Given the description of an element on the screen output the (x, y) to click on. 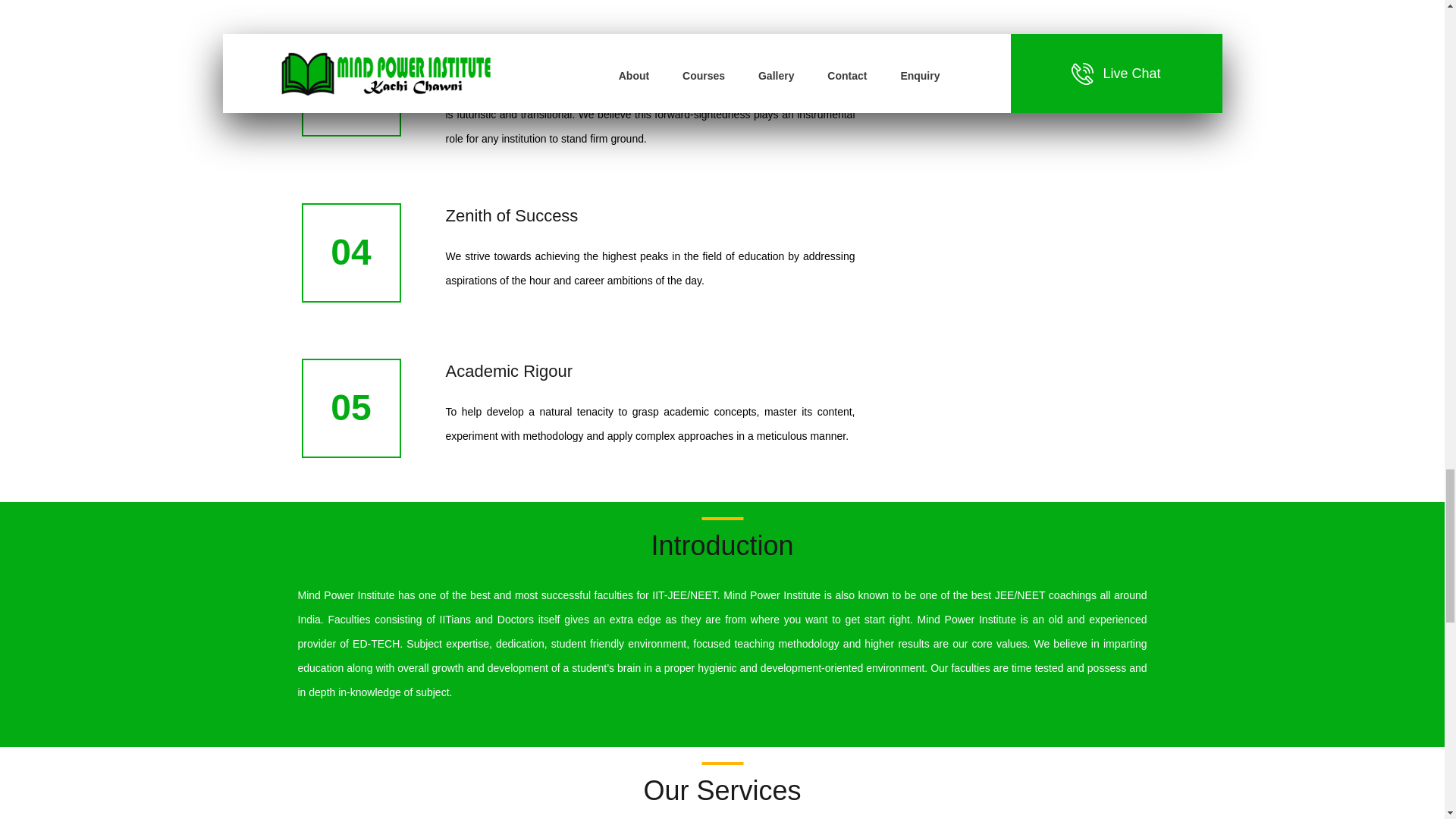
Progress (478, 49)
Academic Rigour (509, 370)
Zenith of Success (511, 215)
